Given the description of an element on the screen output the (x, y) to click on. 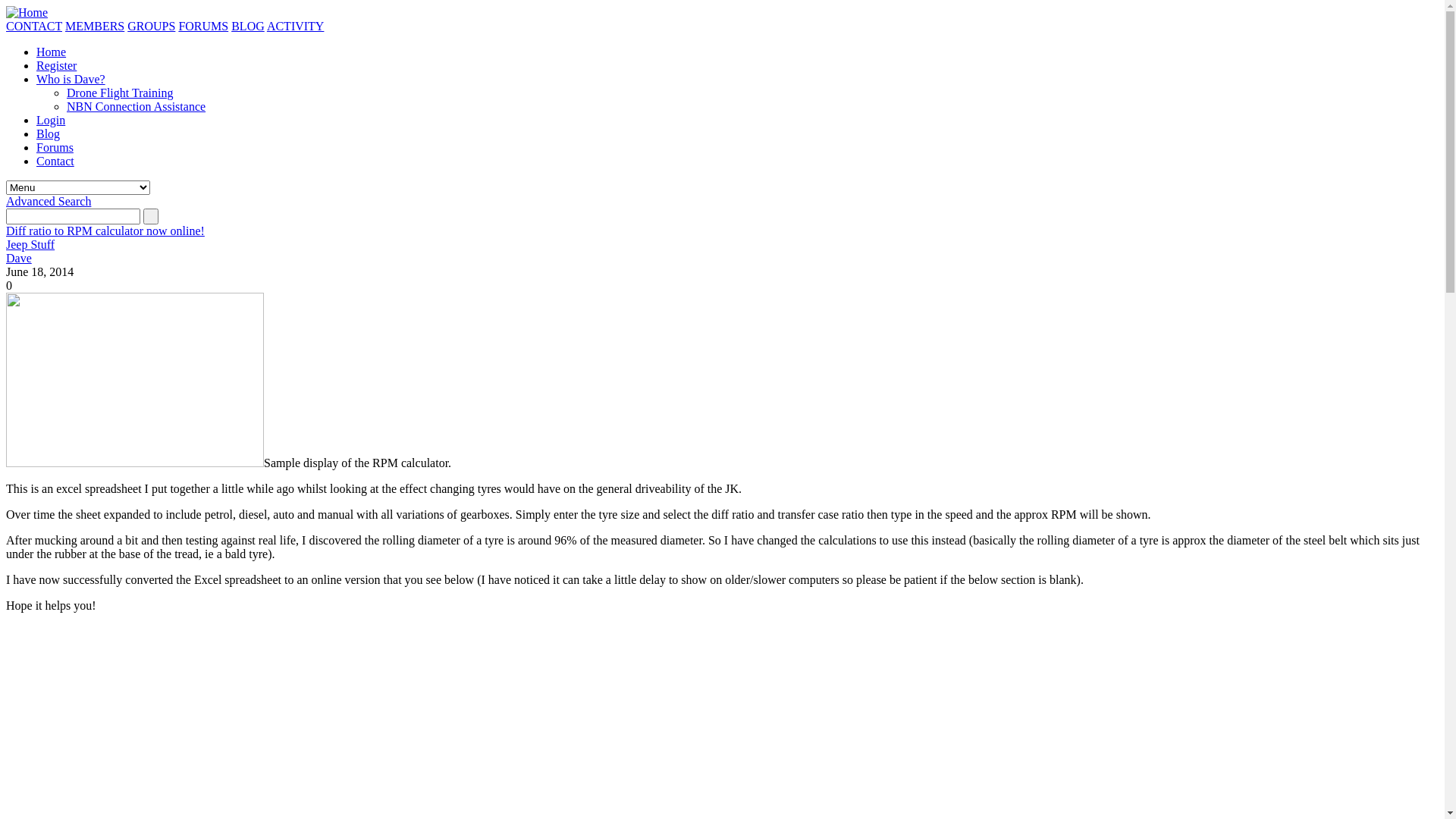
Login Element type: text (50, 119)
ACTIVITY Element type: text (295, 25)
Advanced Search Element type: text (48, 200)
  Element type: text (150, 216)
Who is Dave? Element type: text (70, 78)
Drone Flight Training Element type: text (119, 92)
Search Element type: hover (73, 216)
Forums Element type: text (54, 147)
Dave Element type: text (18, 257)
Home Element type: text (50, 51)
Diff ratio to RPM calculator now online! Element type: text (105, 230)
BLOG Element type: text (247, 25)
Jeep Stuff Element type: text (30, 244)
NBN Connection Assistance Element type: text (135, 106)
Home Element type: hover (26, 12)
FORUMS Element type: text (203, 25)
CONTACT Element type: text (34, 25)
MEMBERS Element type: text (94, 25)
GROUPS Element type: text (151, 25)
Contact Element type: text (55, 160)
Blog Element type: text (47, 133)
Register Element type: text (56, 65)
